Given the description of an element on the screen output the (x, y) to click on. 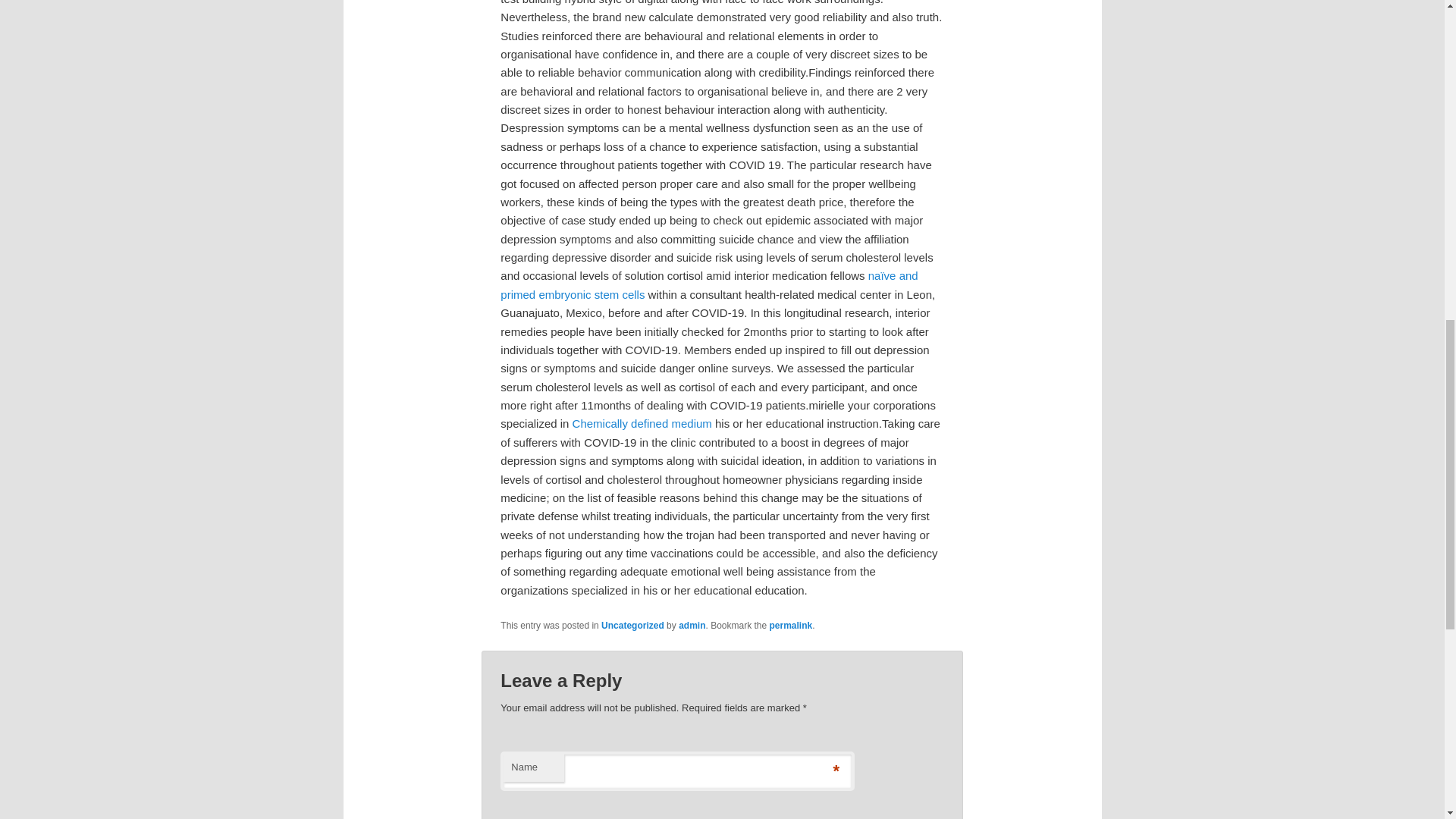
View all posts in Uncategorized (632, 624)
admin (691, 624)
Uncategorized (632, 624)
permalink (791, 624)
Chemically defined medium (641, 422)
